Given the description of an element on the screen output the (x, y) to click on. 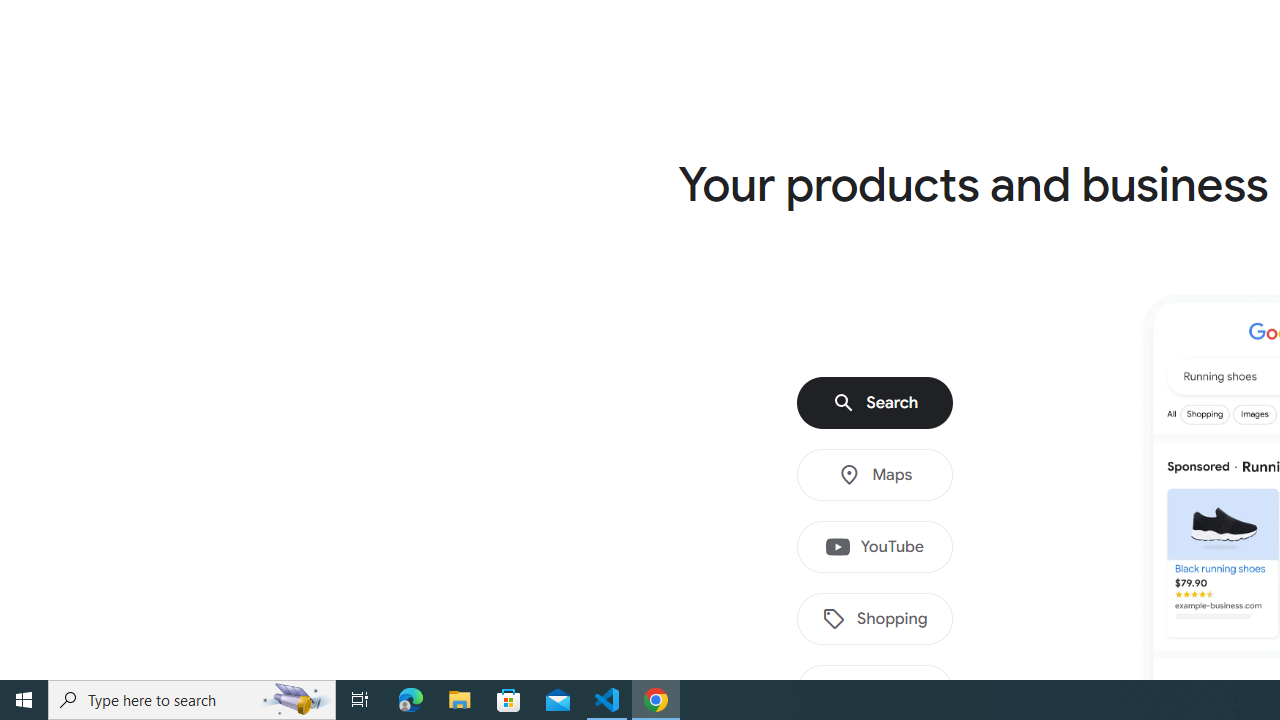
Search (875, 403)
Shopping (875, 619)
YouTube (875, 547)
Images (875, 691)
Maps (875, 475)
